Given the description of an element on the screen output the (x, y) to click on. 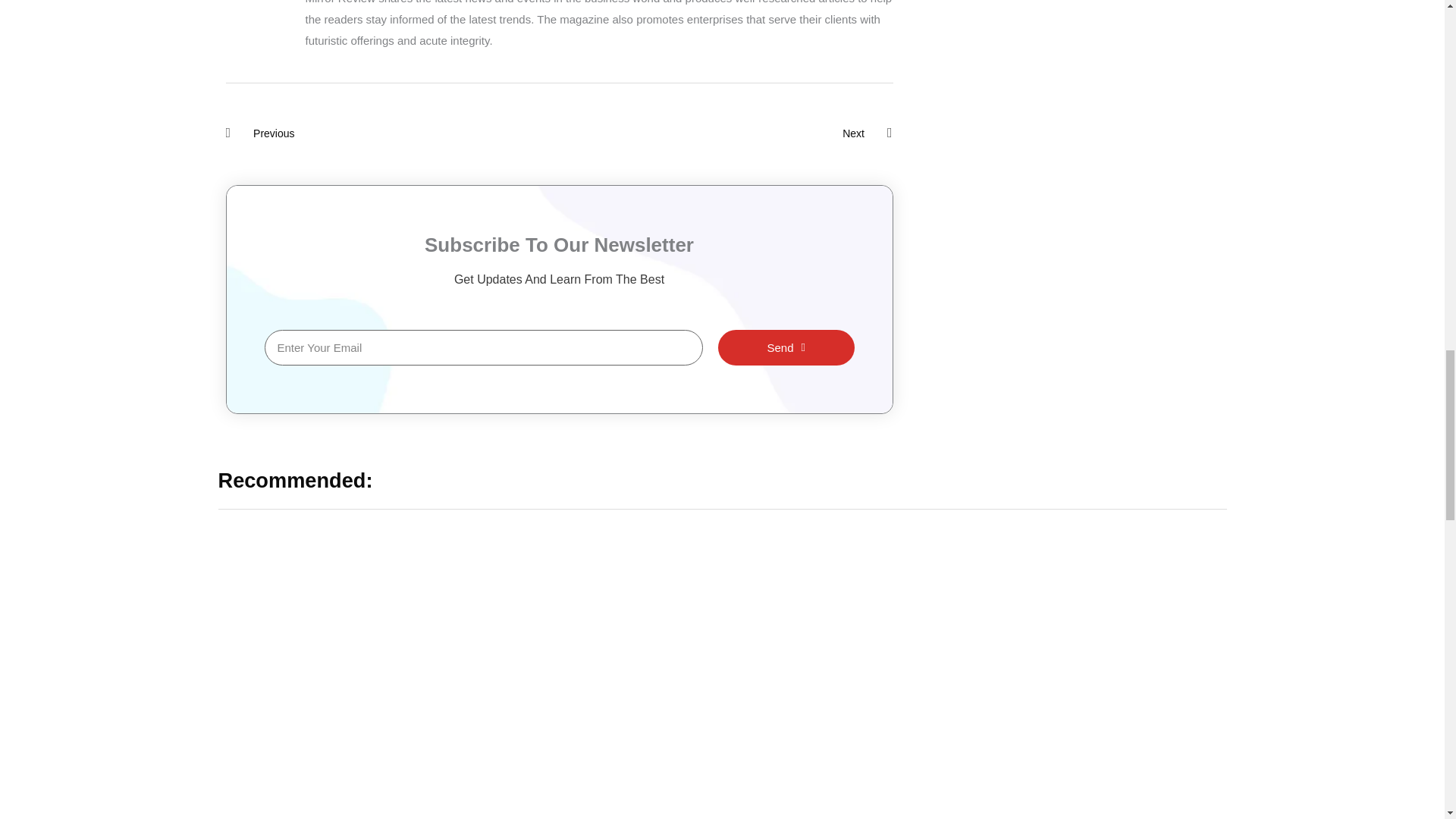
Send (392, 133)
